Given the description of an element on the screen output the (x, y) to click on. 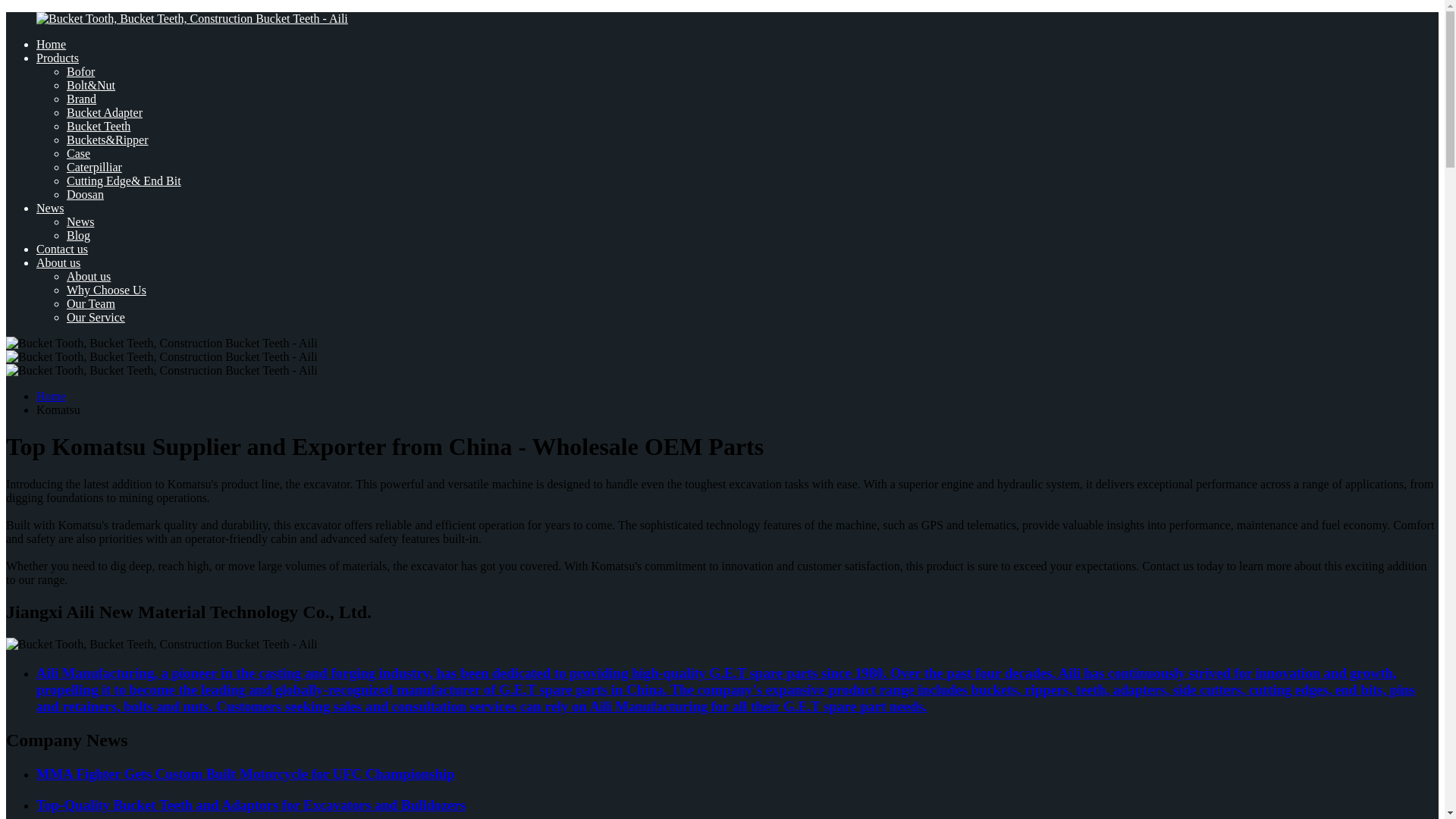
Brand (81, 98)
Bofor (80, 71)
Products (57, 57)
Why Choose Us (106, 289)
News (50, 207)
Home (50, 43)
Caterpilliar (94, 166)
Home (50, 395)
News (80, 221)
Blog (78, 235)
Doosan (84, 194)
About us (58, 262)
Contact us (61, 248)
Our Service (95, 317)
Our Team (90, 303)
